Given the description of an element on the screen output the (x, y) to click on. 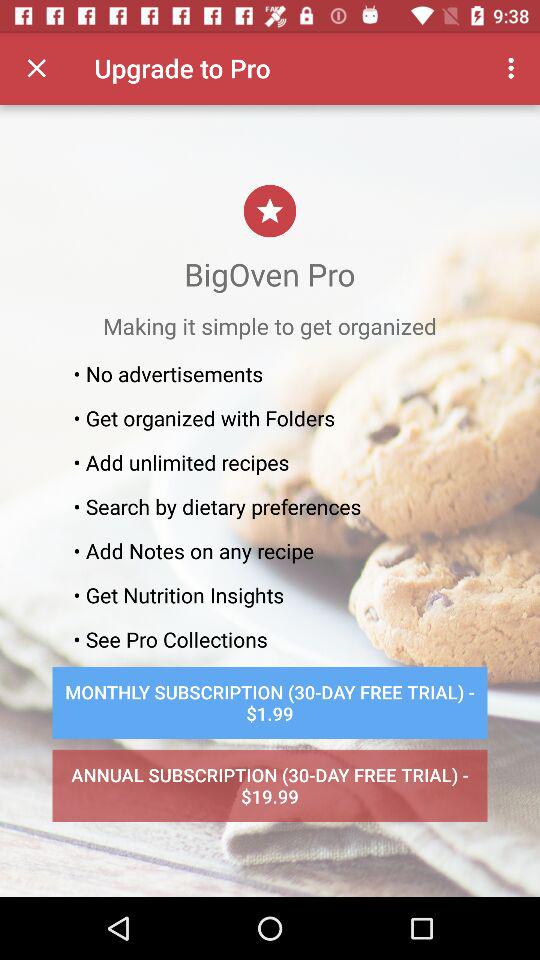
close (36, 68)
